Given the description of an element on the screen output the (x, y) to click on. 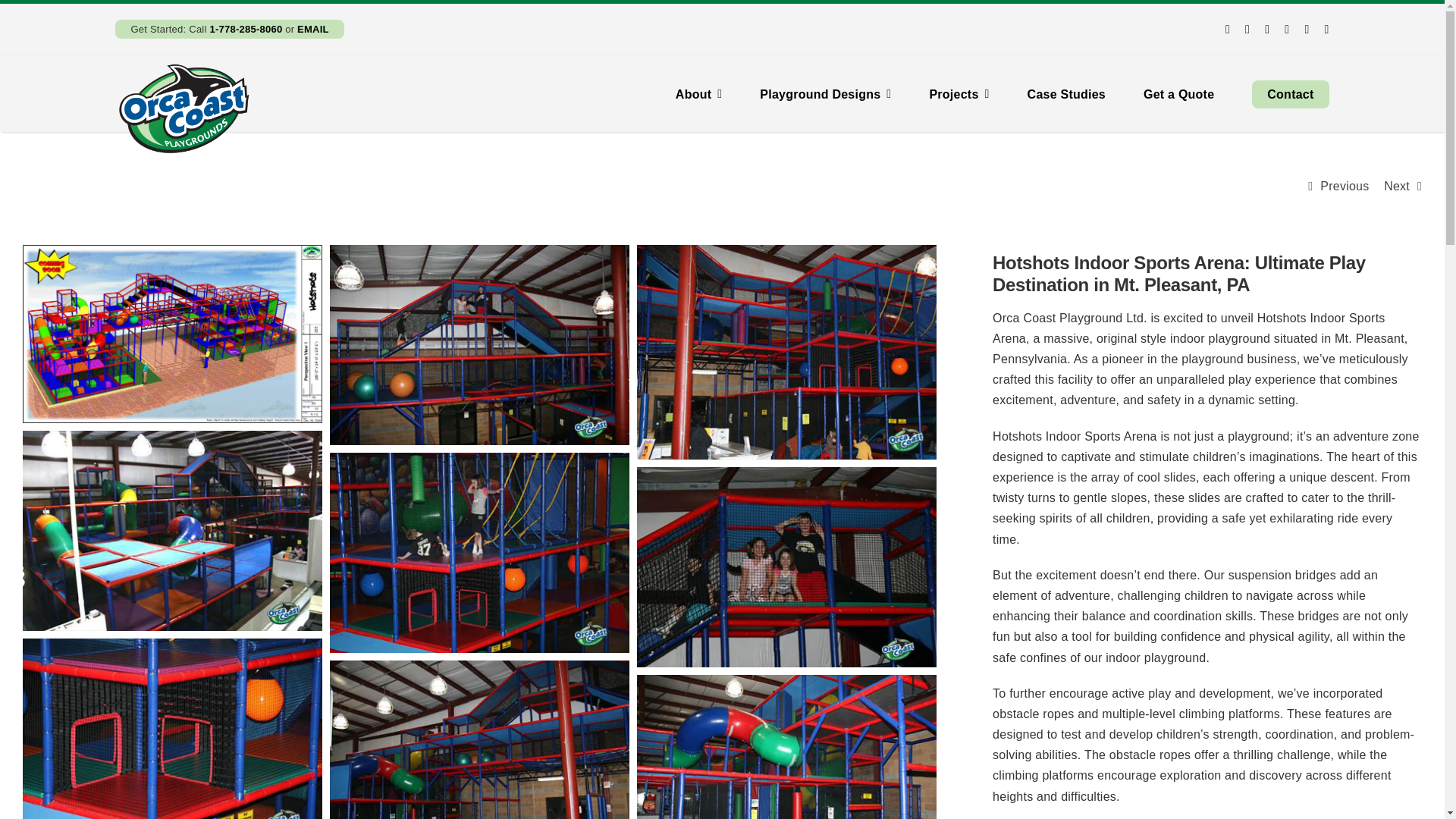
Hotshots (172, 333)
6hotshots (786, 566)
Get a Quote (1178, 93)
Playground Designs (825, 93)
EMAIL (313, 29)
Contact (1289, 93)
Phone (245, 29)
1hotshots (172, 530)
1-778-285-8060 (245, 29)
2hotshots (479, 344)
7hotshots (786, 351)
5hotshots (479, 552)
9hotshots (172, 728)
Case Studies (1066, 93)
